Given the description of an element on the screen output the (x, y) to click on. 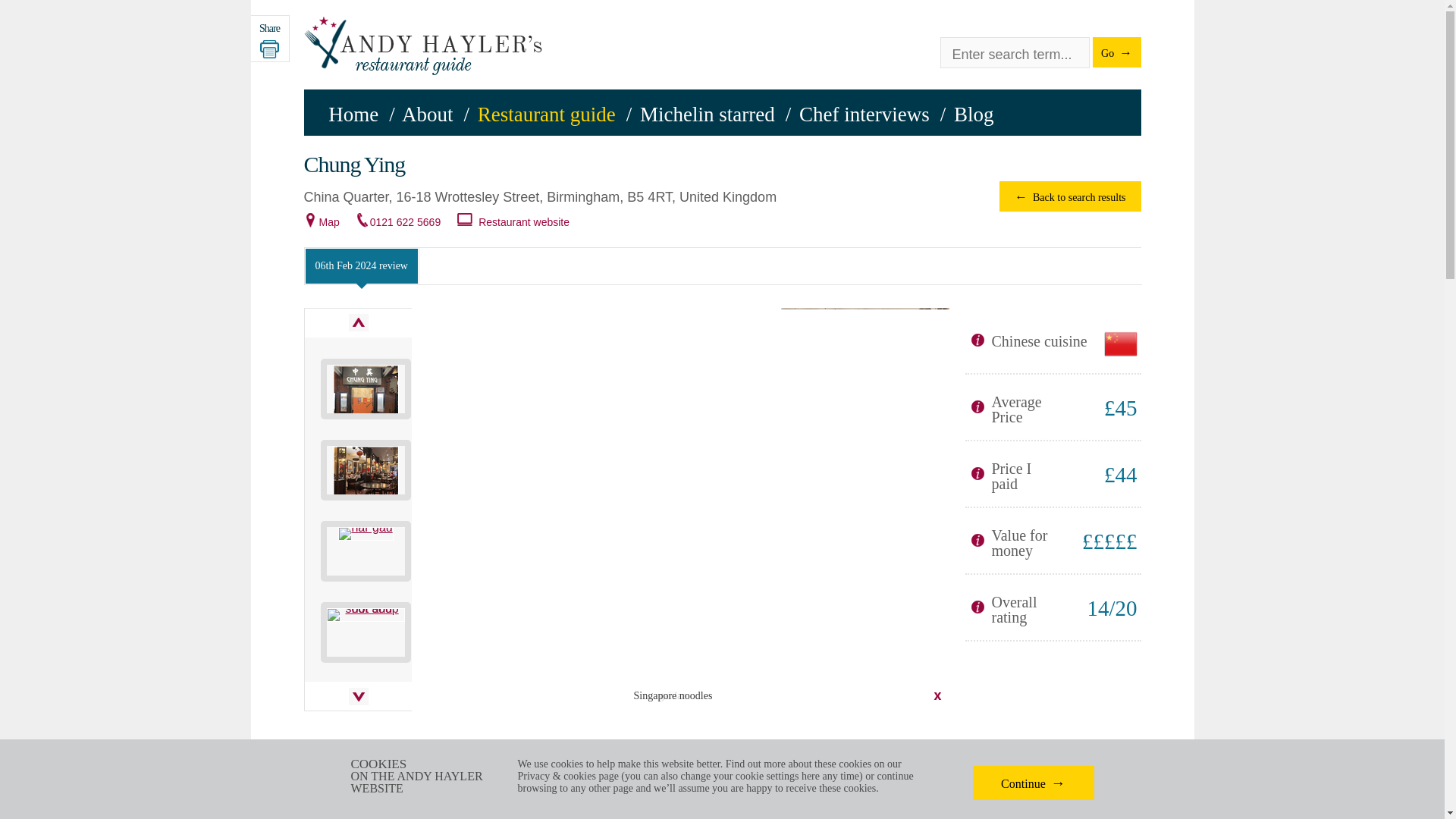
Blog (973, 114)
Restaurant guide (546, 114)
Michelin starred (707, 114)
Map (328, 222)
Back to search results (1069, 195)
Chef interviews (864, 114)
06th Feb 2024 review (361, 266)
About (426, 114)
Restaurant website (524, 222)
Go (1116, 51)
Home (353, 114)
